Given the description of an element on the screen output the (x, y) to click on. 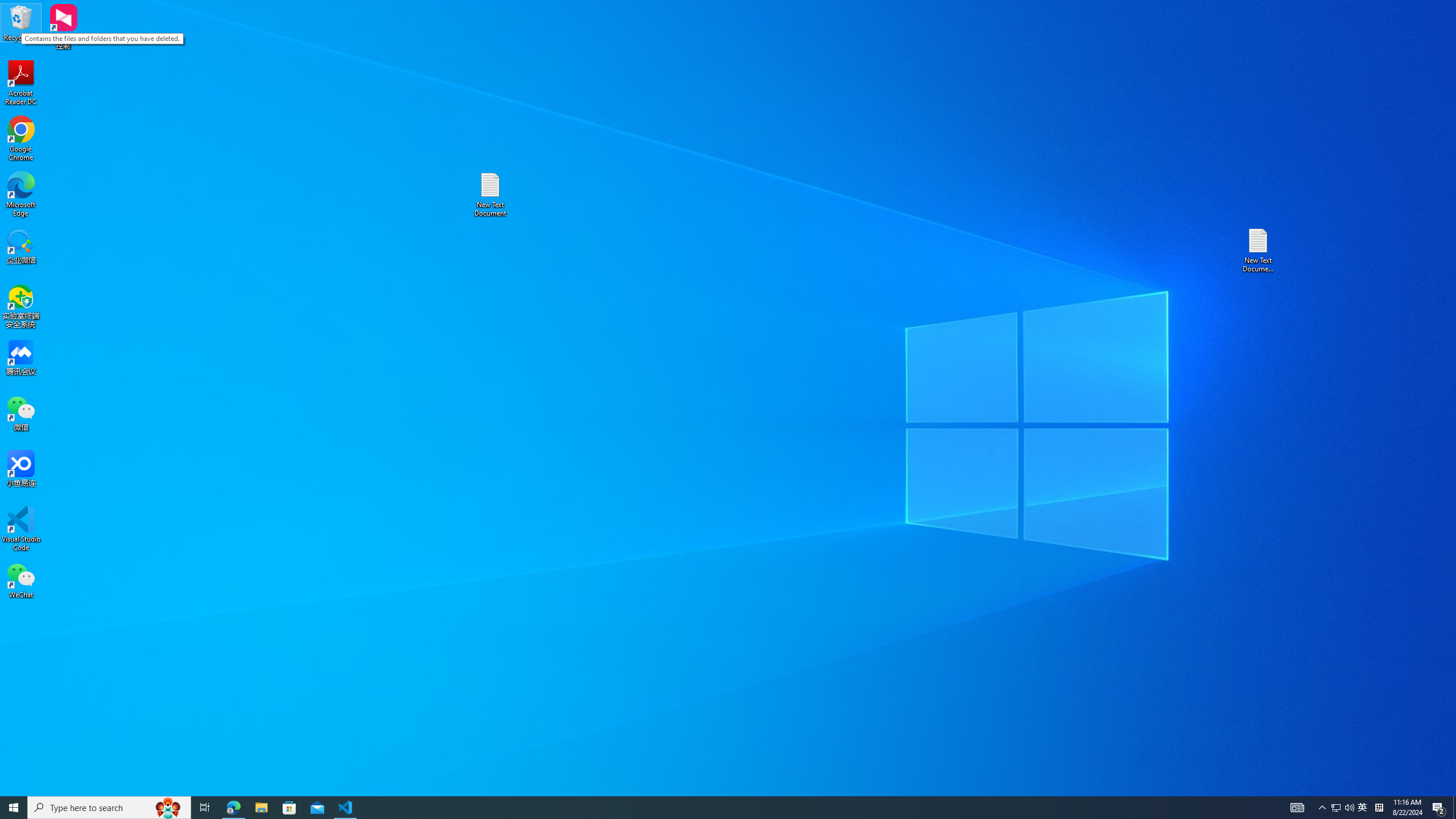
Notification Chevron (1322, 807)
WeChat (21, 580)
